Given the description of an element on the screen output the (x, y) to click on. 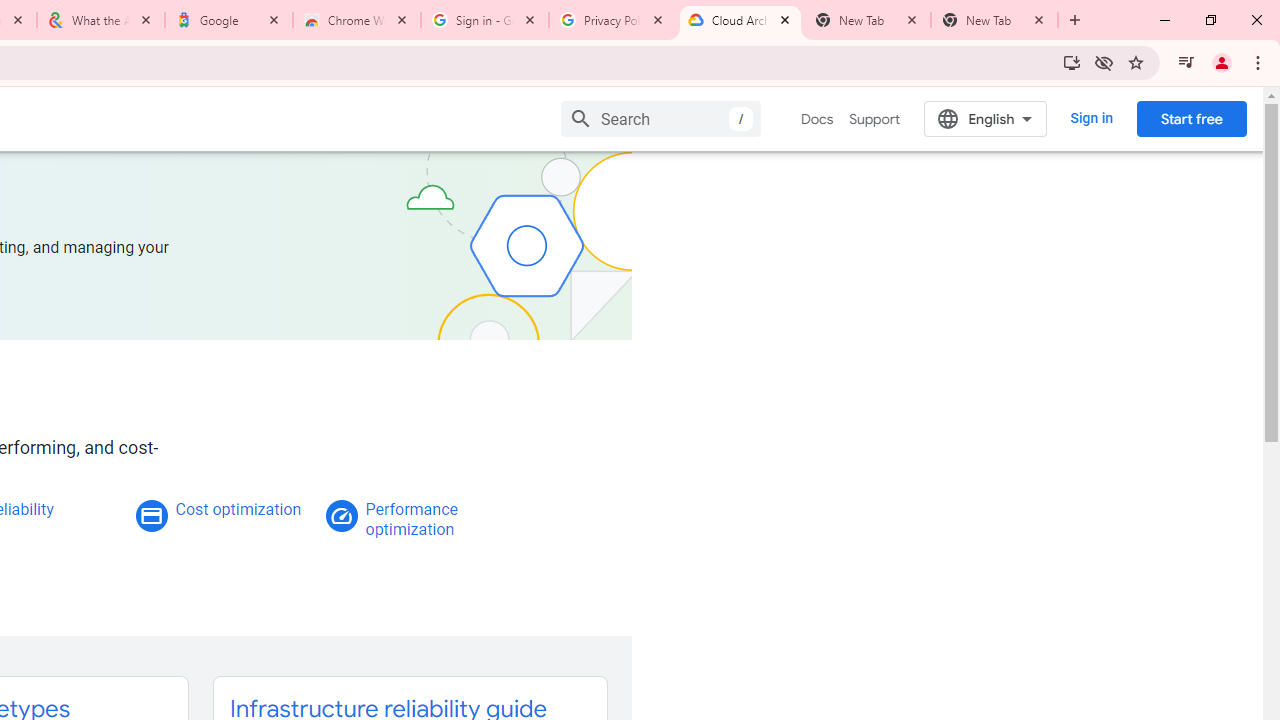
English (985, 118)
New Tab (994, 20)
Cost optimization (238, 509)
Performance optimization (411, 519)
Docs (817, 119)
